Given the description of an element on the screen output the (x, y) to click on. 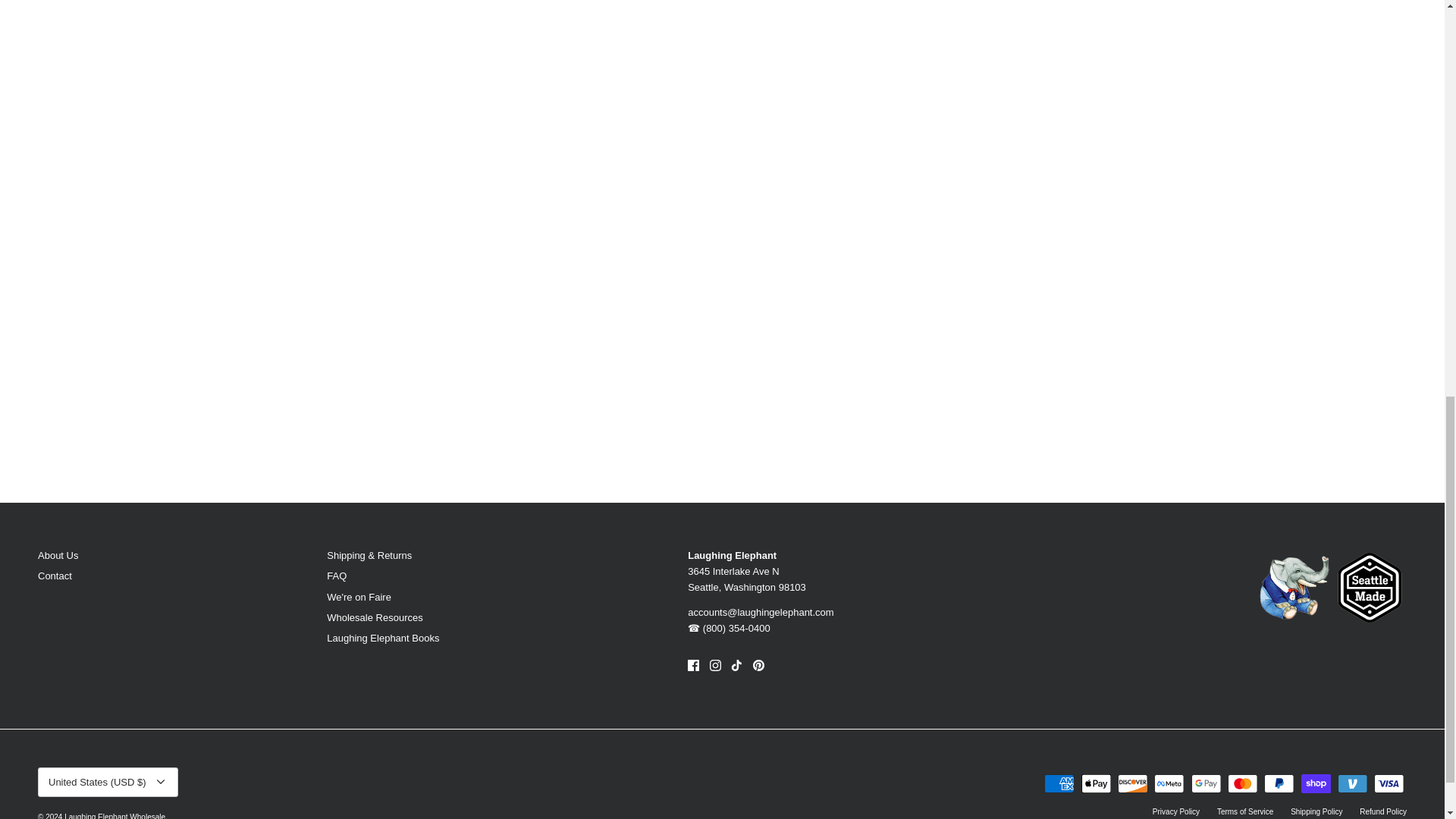
Pinterest (758, 665)
Facebook (692, 665)
American Express (1058, 783)
Instagram (715, 665)
